Given the description of an element on the screen output the (x, y) to click on. 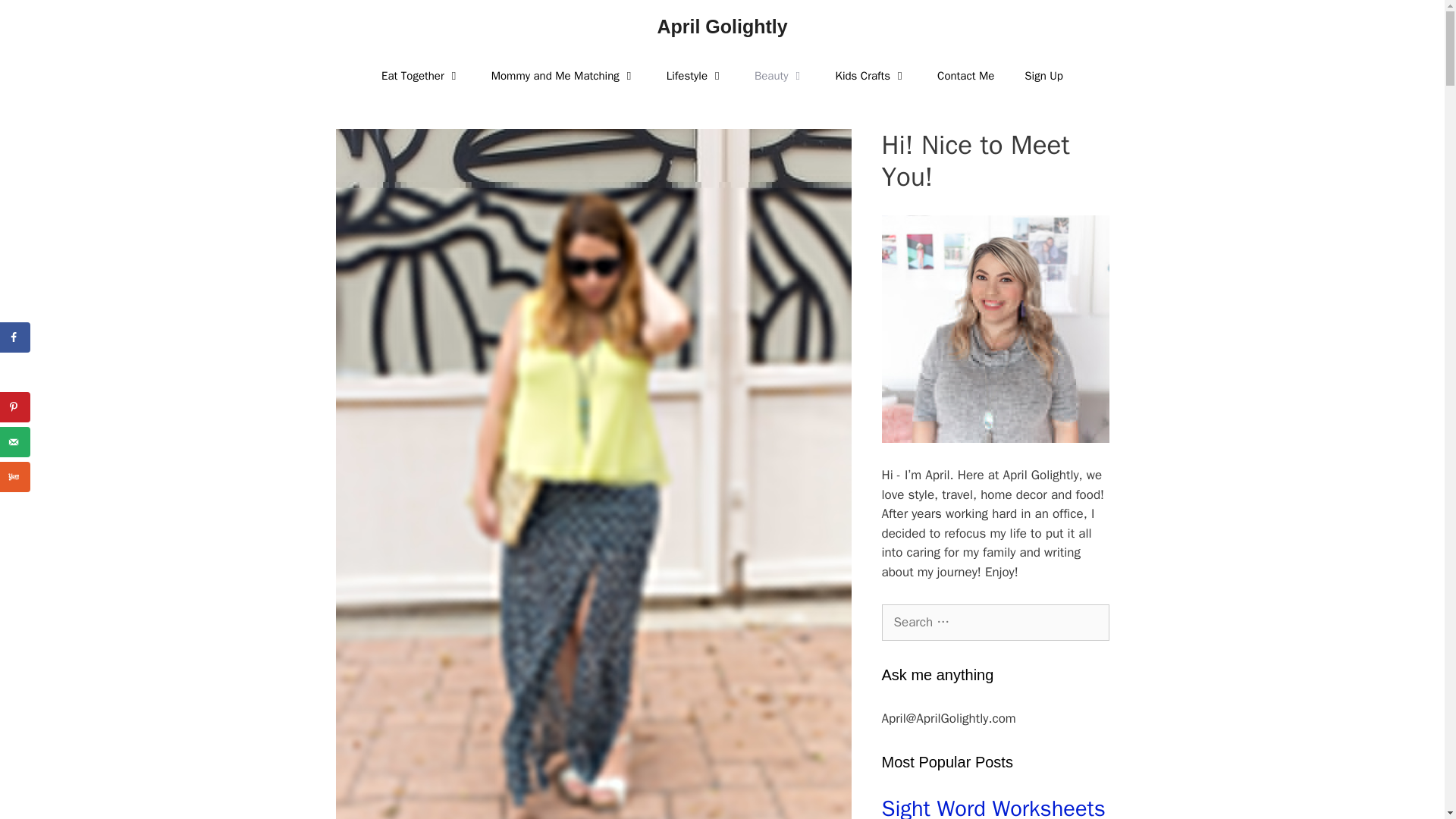
Search for: (994, 622)
Mommy and Me Matching (563, 75)
April Golightly (721, 25)
Kids Crafts (872, 75)
Beauty (780, 75)
Lifestyle (694, 75)
Contact Me (965, 75)
Eat Together (421, 75)
Sight Word Worksheets FREE Printables (994, 807)
Sign Up (1043, 75)
